Given the description of an element on the screen output the (x, y) to click on. 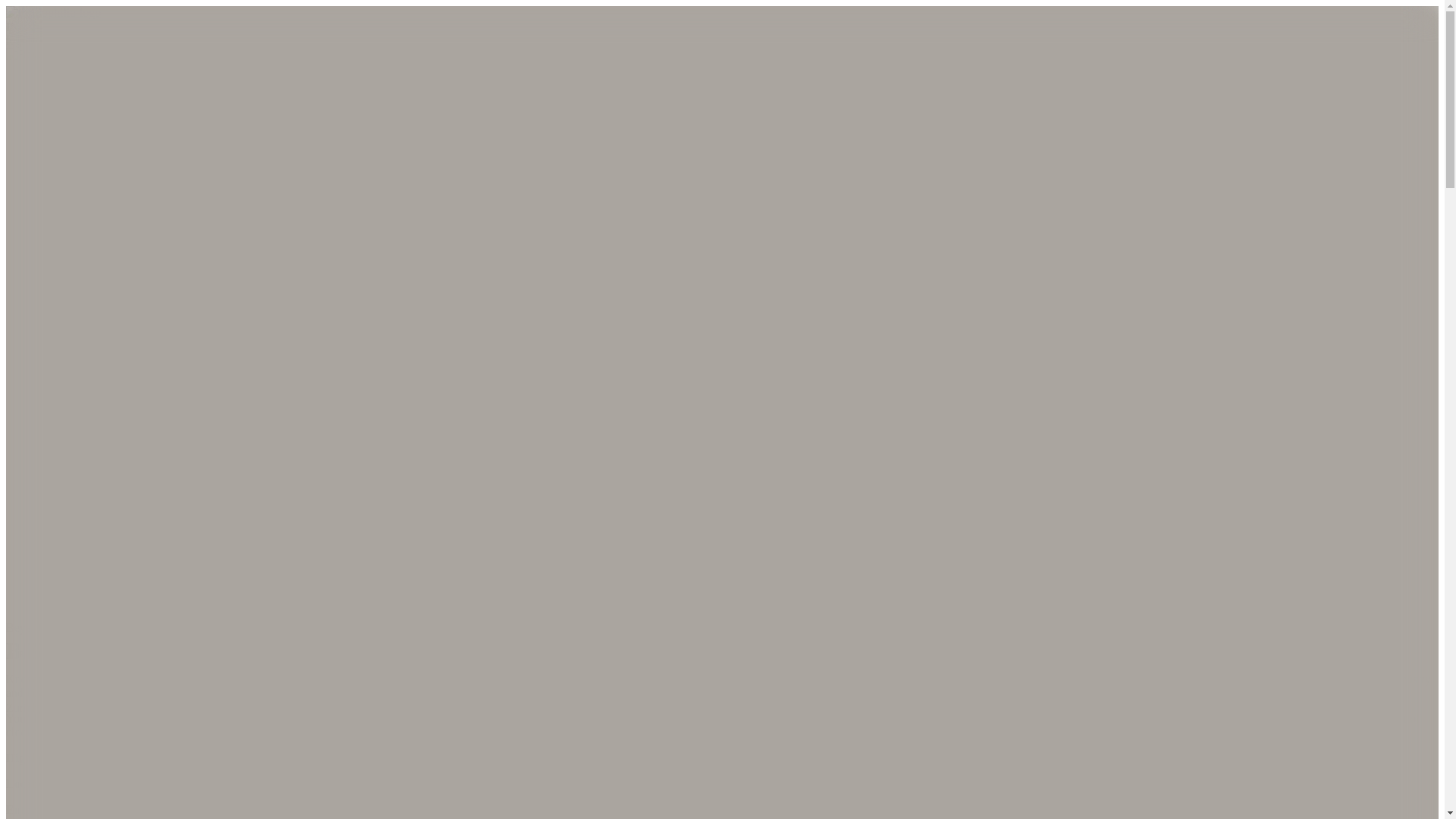
Switzerland tour package (1210, 678)
